Given the description of an element on the screen output the (x, y) to click on. 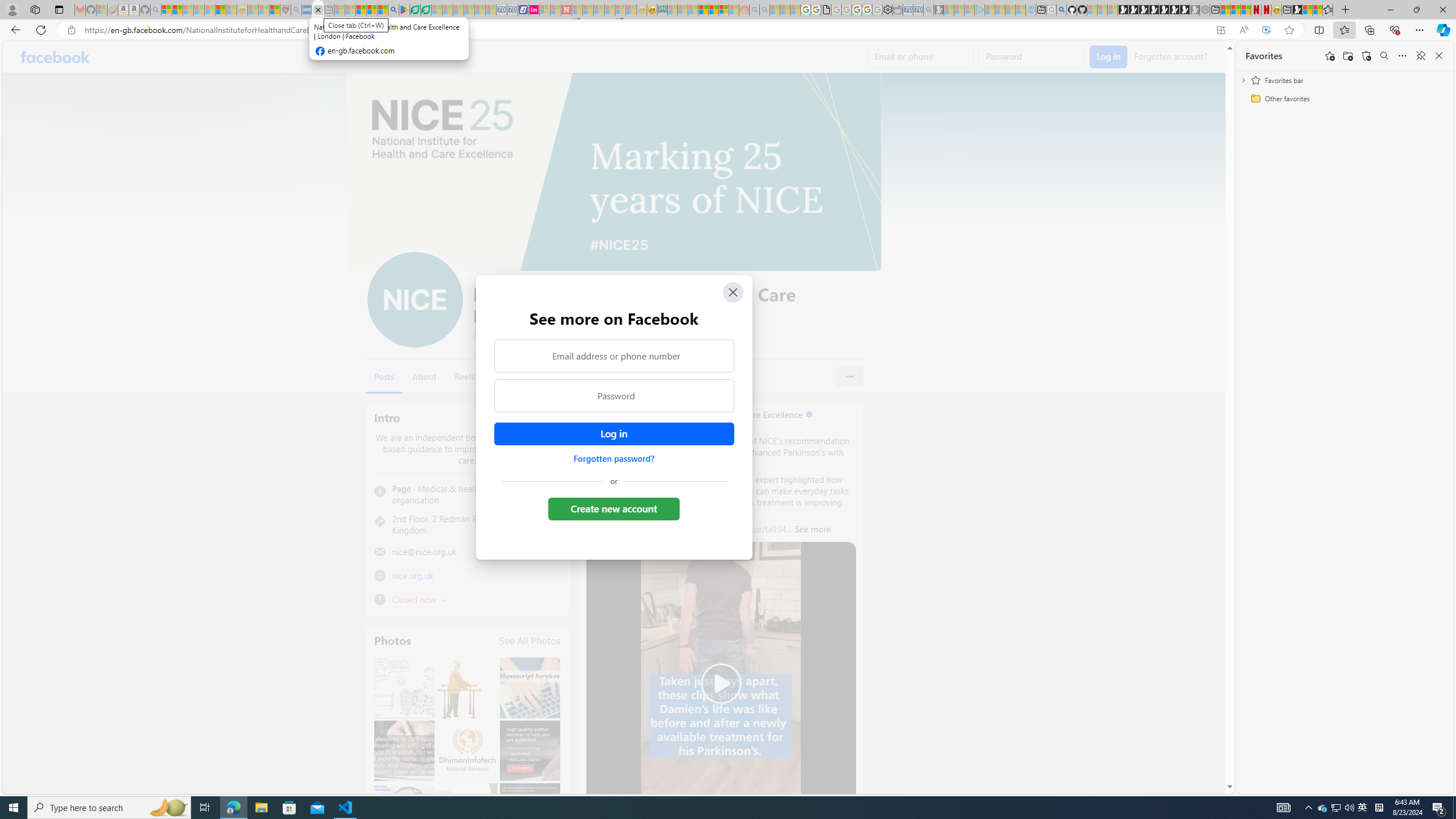
Expert Portfolios (703, 9)
Add folder (1347, 55)
Bluey: Let's Play! - Apps on Google Play (404, 9)
Microsoft Word - consumer-privacy address update 2.2021 (426, 9)
App available. Install Facebook (1220, 29)
Pets - MSN (371, 9)
